Given the description of an element on the screen output the (x, y) to click on. 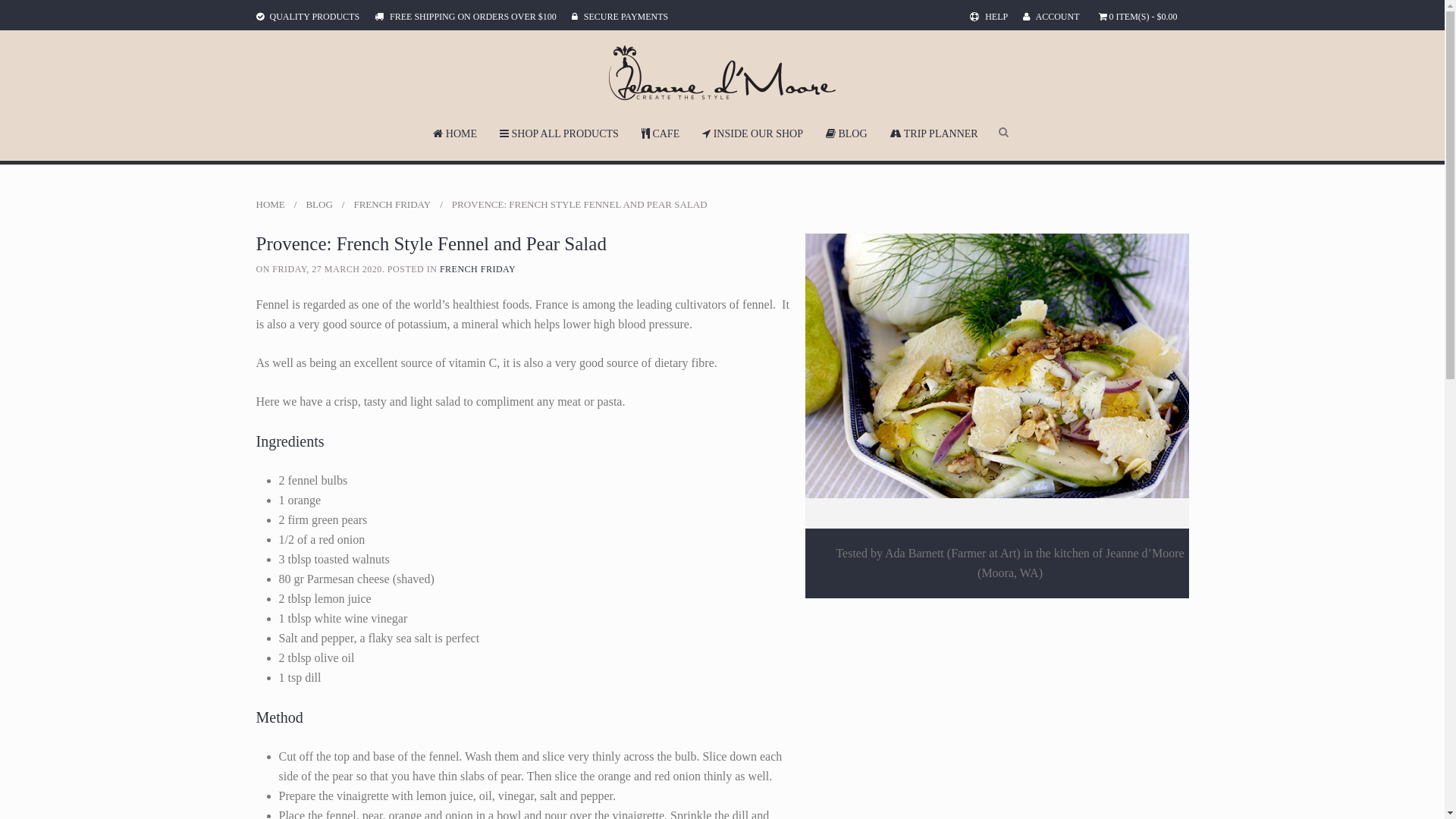
Provence: French Style Fennel and Pear Salad Element type: hover (997, 363)
HELP Element type: text (988, 16)
Provence: French Style Fennel and Pear Salad Element type: hover (997, 365)
FREE SHIPPING ON ORDERS OVER $100 Element type: text (465, 16)
TRIP PLANNER Element type: text (933, 130)
HOME Element type: text (454, 130)
CAFE Element type: text (660, 130)
INSIDE OUR SHOP Element type: text (752, 130)
HOME Element type: text (270, 204)
BLOG Element type: text (318, 204)
SHOP ALL PRODUCTS Element type: text (559, 130)
ACCOUNT Element type: text (1050, 16)
Jeanne d'Moore Element type: hover (721, 72)
FRENCH FRIDAY Element type: text (391, 204)
SECURE PAYMENTS Element type: text (619, 16)
FRENCH FRIDAY Element type: text (477, 268)
BLOG Element type: text (846, 130)
QUALITY PRODUCTS Element type: text (308, 16)
